Given the description of an element on the screen output the (x, y) to click on. 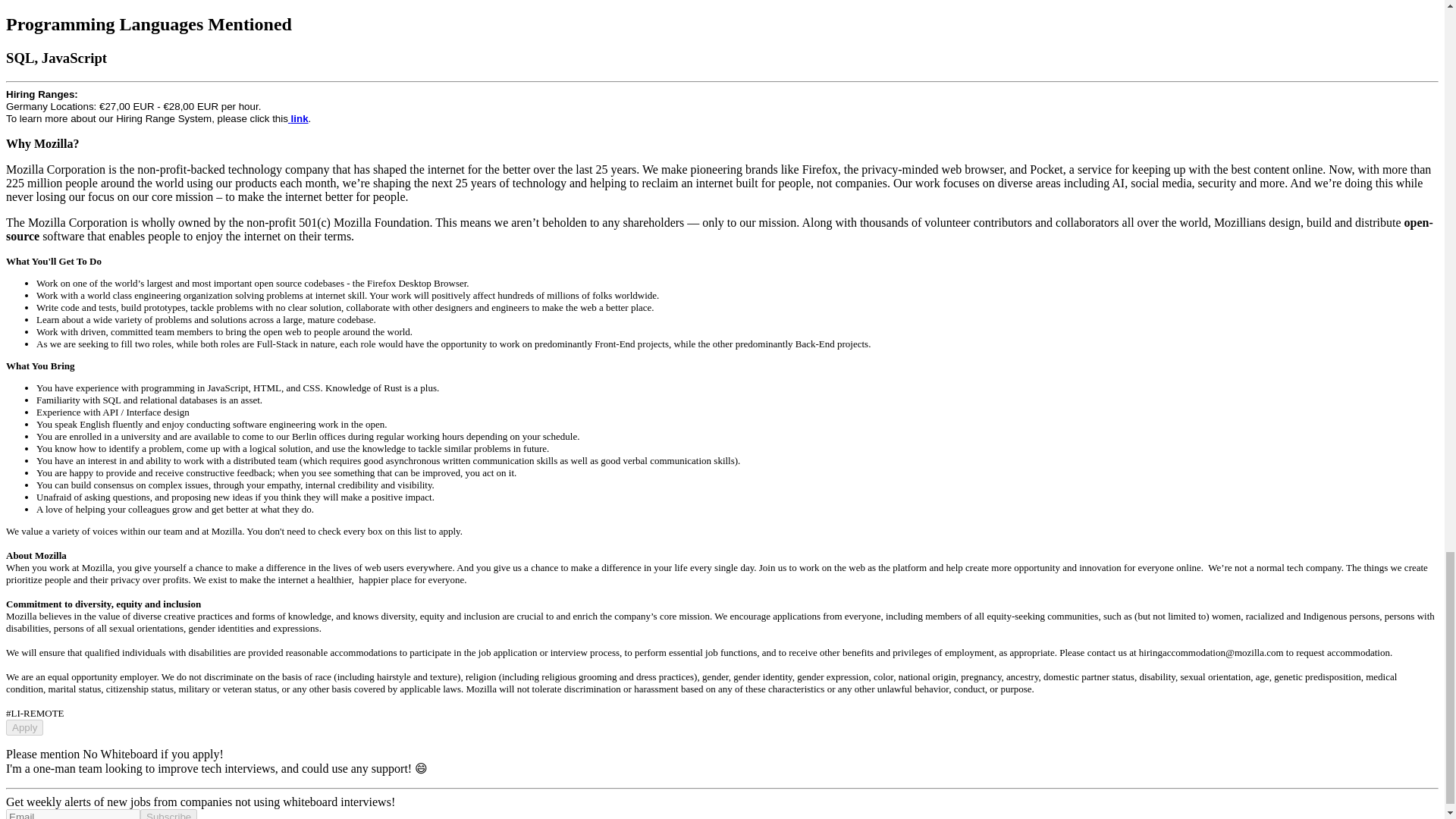
link (298, 118)
Apply (24, 726)
Apply (24, 727)
